Given the description of an element on the screen output the (x, y) to click on. 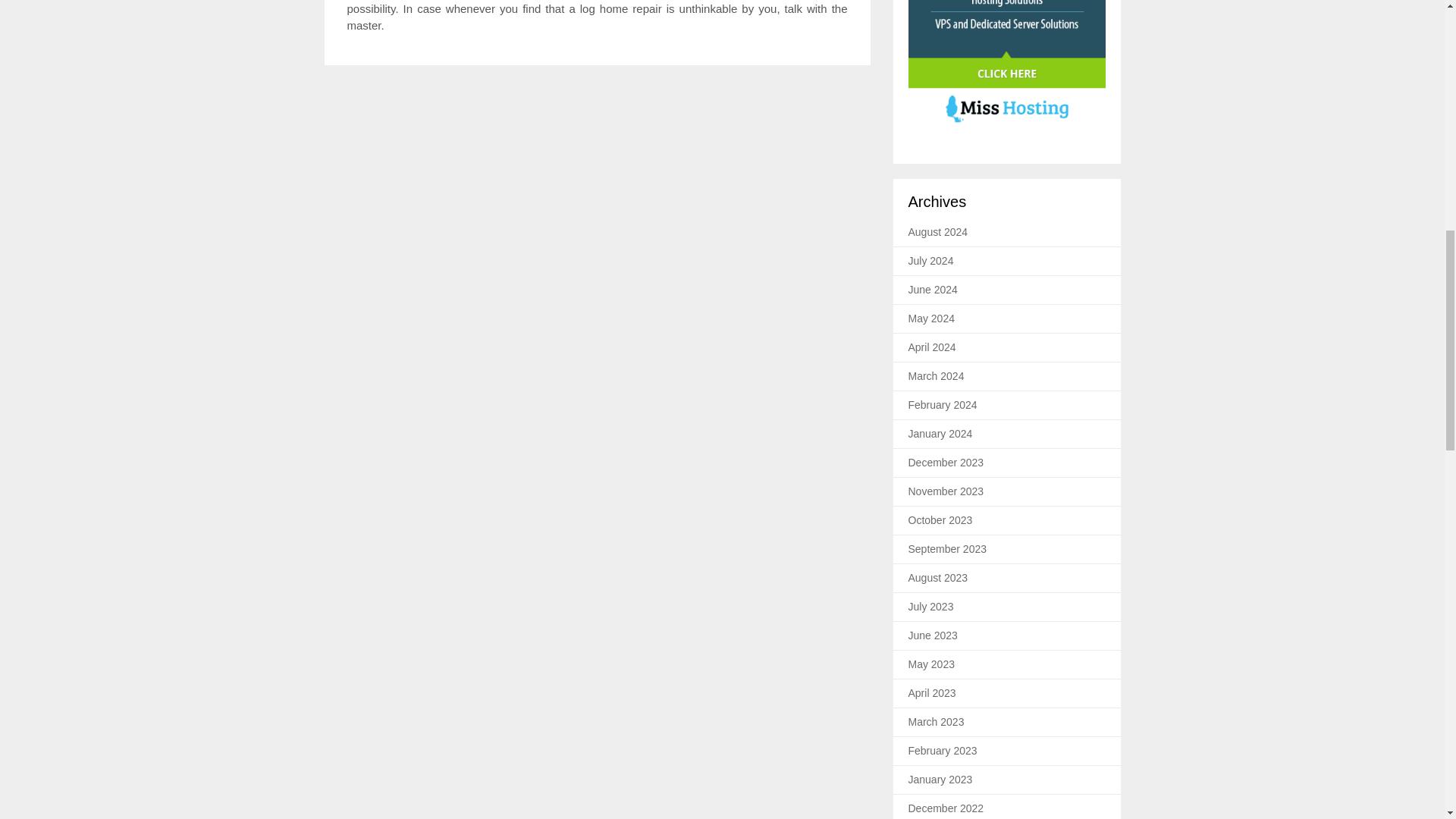
April 2023 (932, 693)
November 2023 (946, 491)
September 2023 (947, 548)
March 2024 (935, 376)
December 2022 (946, 808)
January 2024 (940, 433)
May 2024 (931, 318)
February 2024 (942, 404)
June 2024 (933, 289)
January 2023 (940, 779)
